Given the description of an element on the screen output the (x, y) to click on. 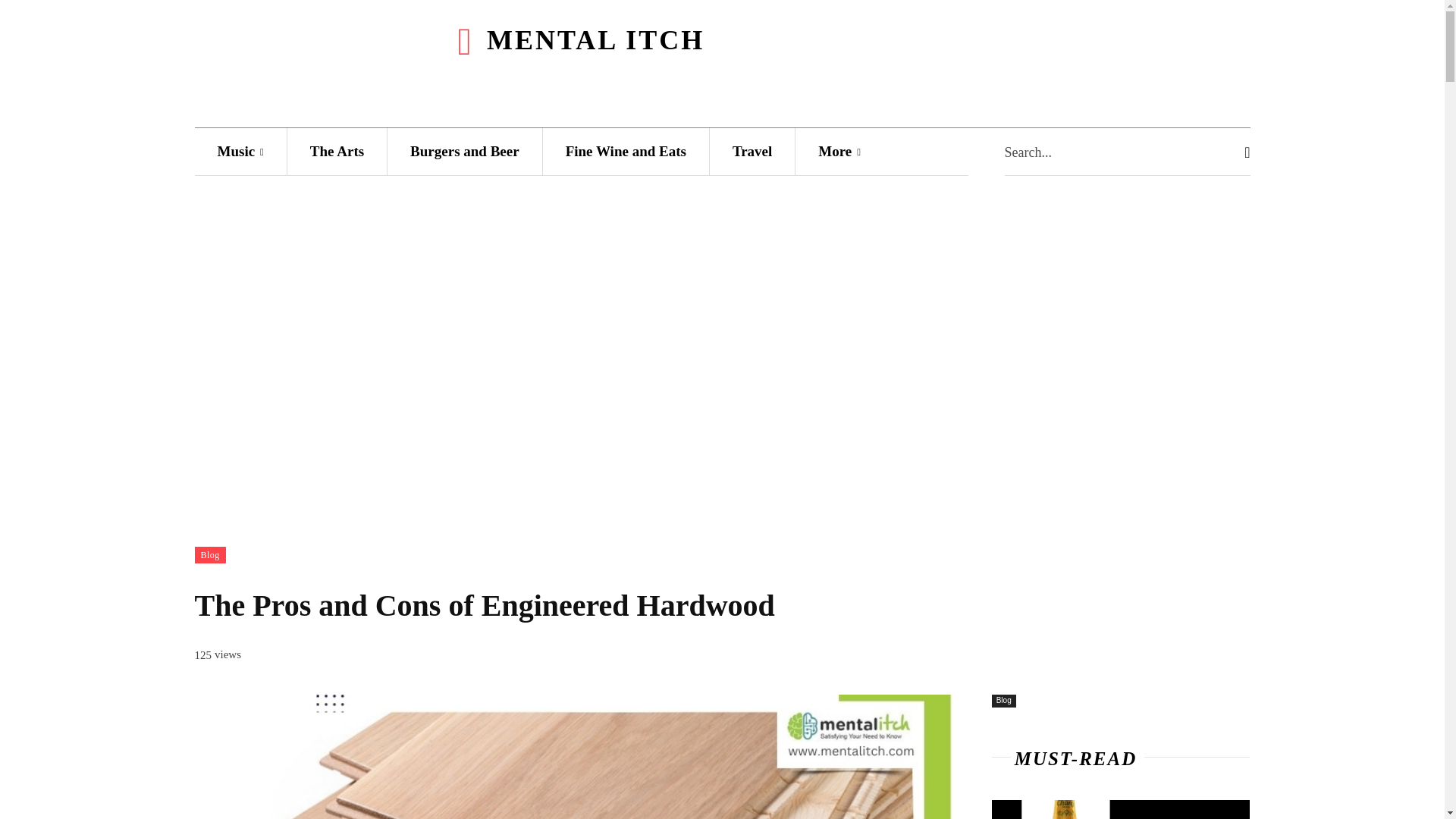
The Pros and Cons of Engineered Hardwood (574, 756)
